Given the description of an element on the screen output the (x, y) to click on. 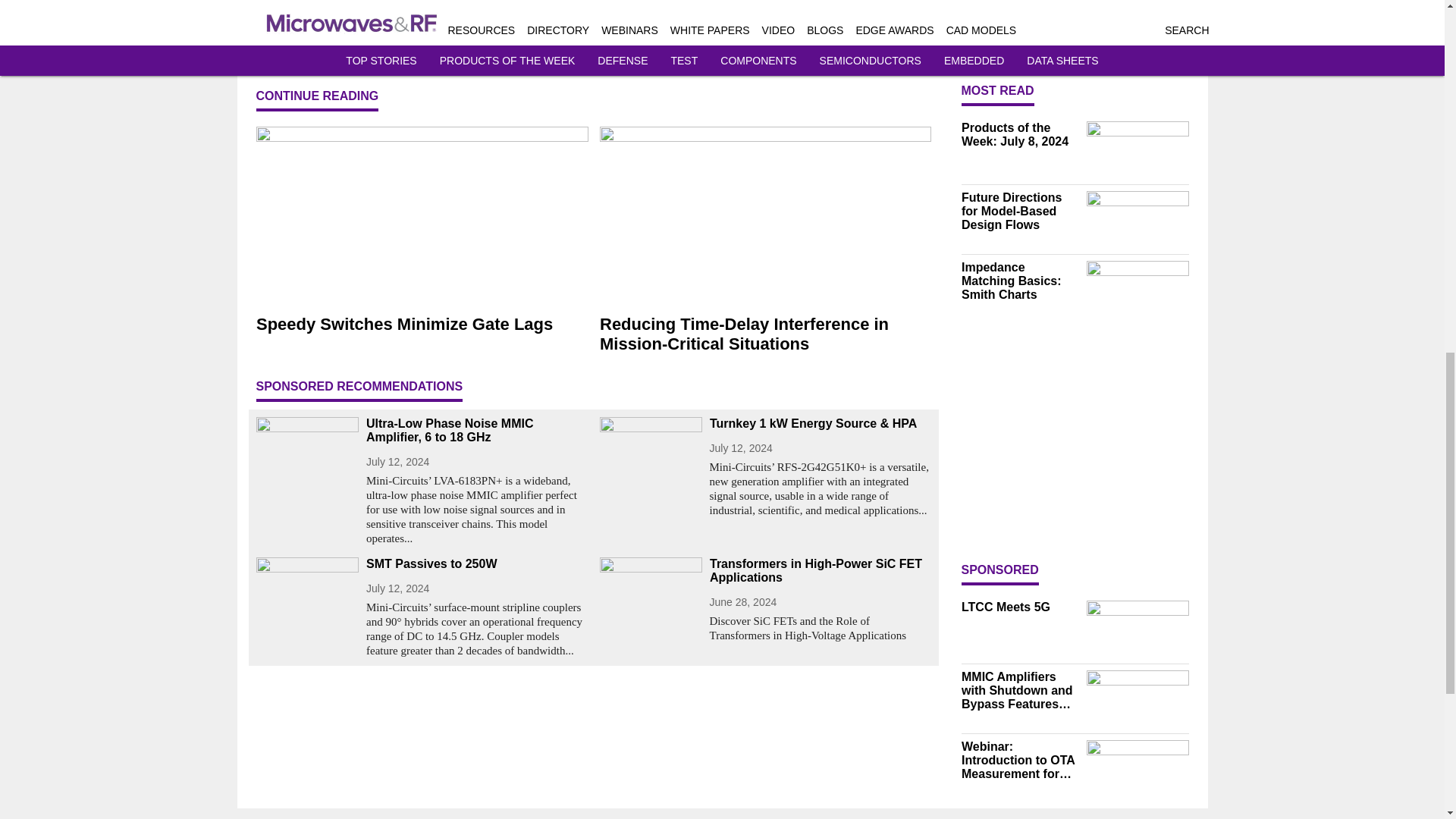
Ultra-Low Phase Noise MMIC Amplifier, 6 to 18 GHz (476, 430)
SMT Passives to 250W (476, 563)
Speedy Switches Minimize Gate Lags (422, 324)
Transformers in High-Power SiC FET Applications (820, 570)
